Given the description of an element on the screen output the (x, y) to click on. 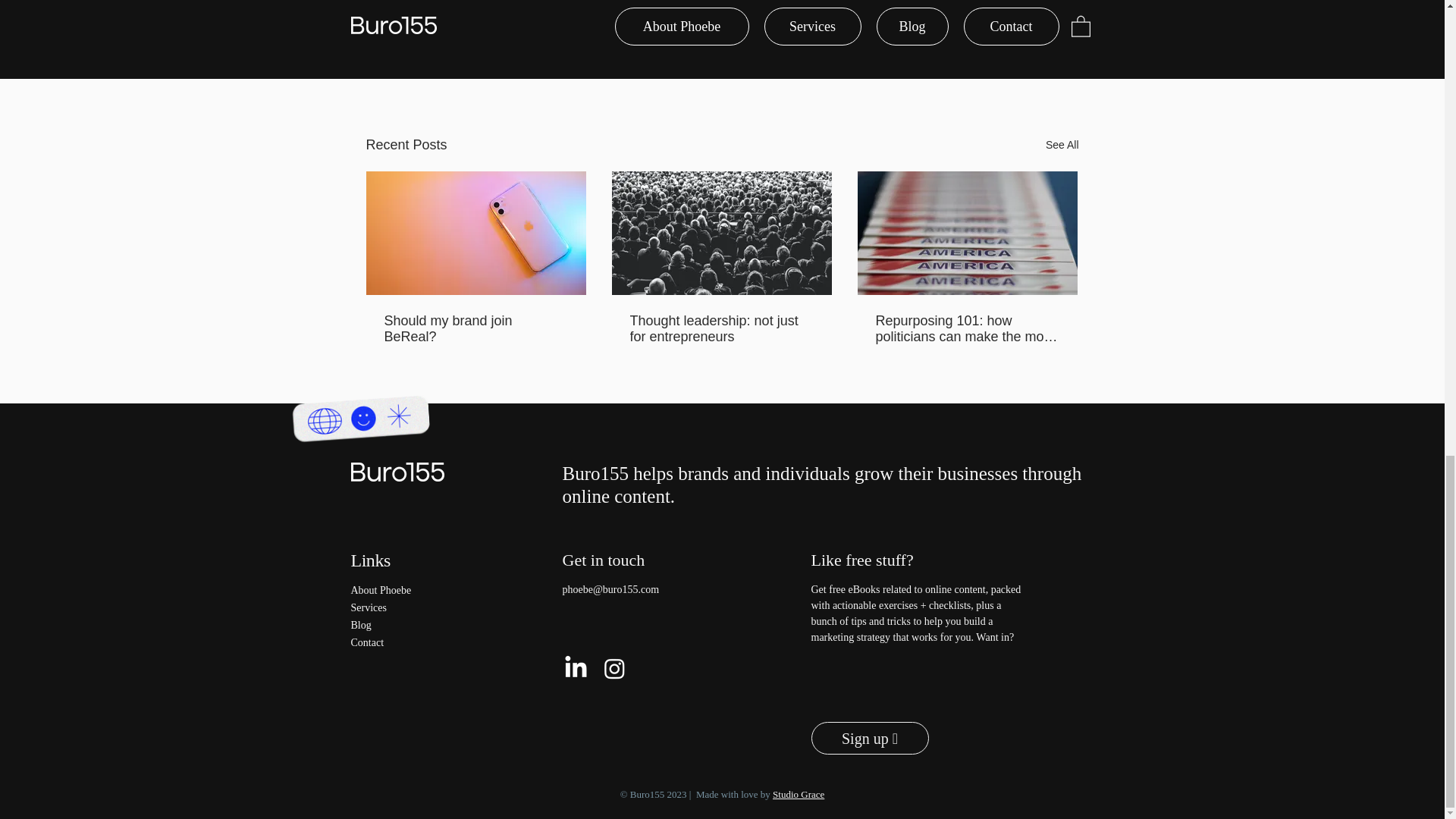
Should my brand join BeReal? (475, 328)
See All (1061, 145)
Services (413, 607)
Contact (413, 642)
Thought leadership: not just for entrepreneurs (720, 328)
Blog (413, 624)
About Phoebe (413, 589)
Studio Grace (798, 794)
